Given the description of an element on the screen output the (x, y) to click on. 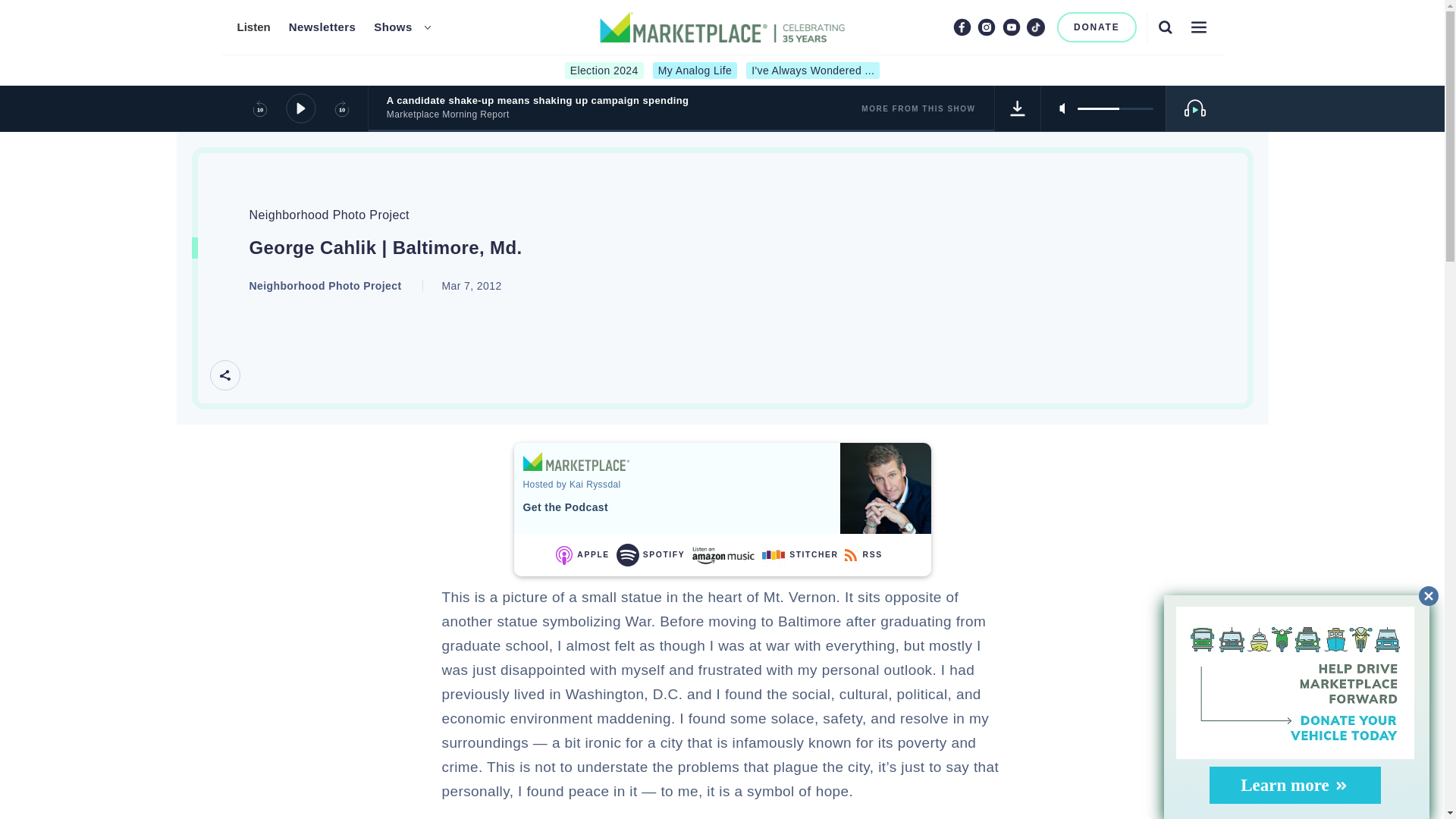
TikTok (1035, 27)
Marketplace (575, 461)
Youtube (1011, 27)
Menu (722, 70)
Instagram (1198, 27)
DONATE (985, 27)
Newsletters (1097, 27)
Facebook (322, 27)
Listen (962, 27)
Shows (252, 26)
Search (393, 26)
Download Track (1164, 27)
volume (1017, 108)
5 (1115, 108)
